Given the description of an element on the screen output the (x, y) to click on. 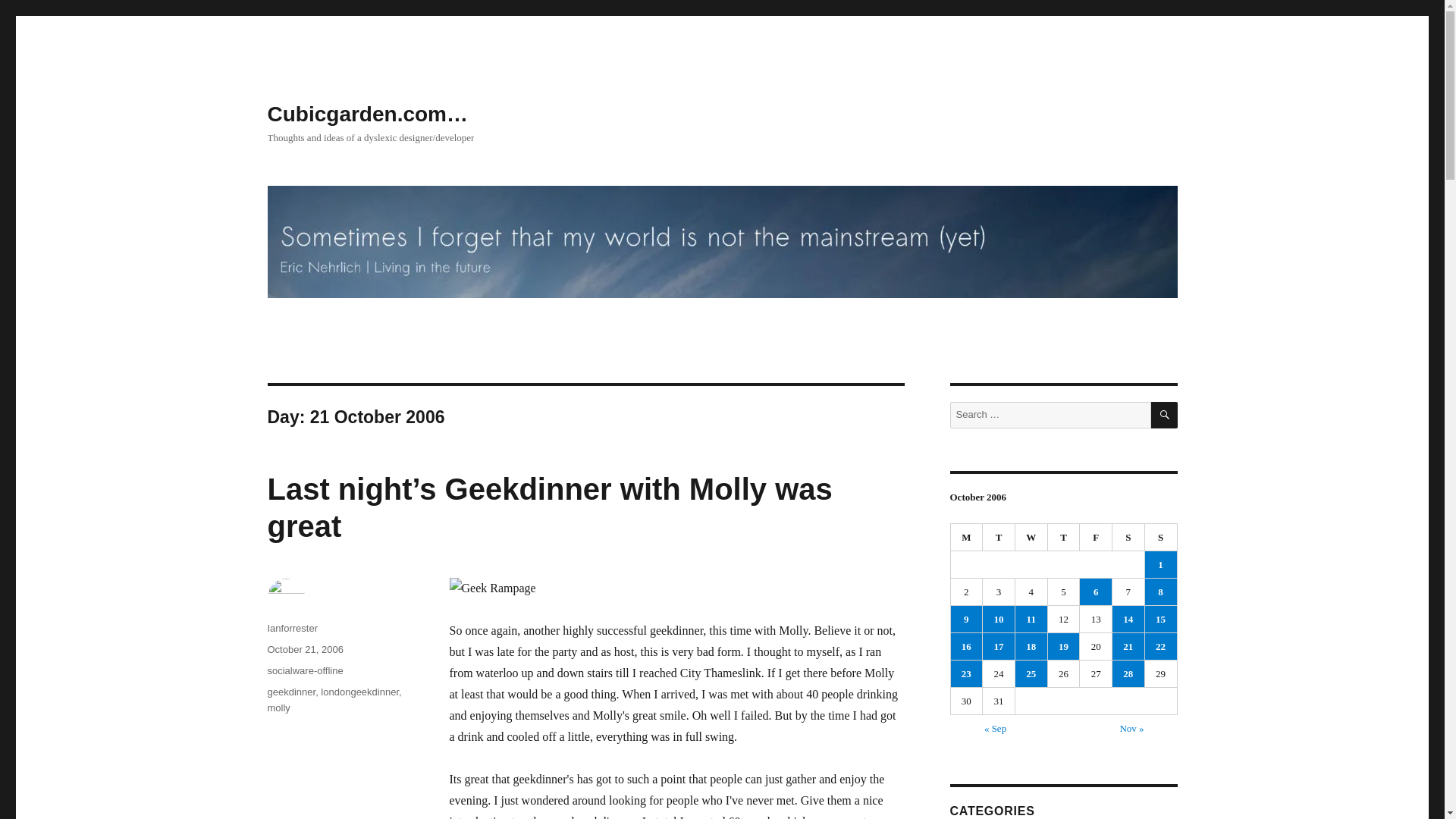
1 (1160, 564)
molly (277, 707)
6 (1096, 591)
9 (966, 619)
geekdinner (290, 691)
Ianforrester (291, 627)
10 (998, 619)
Tuesday (998, 537)
SEARCH (1164, 415)
8 (1160, 591)
